Given the description of an element on the screen output the (x, y) to click on. 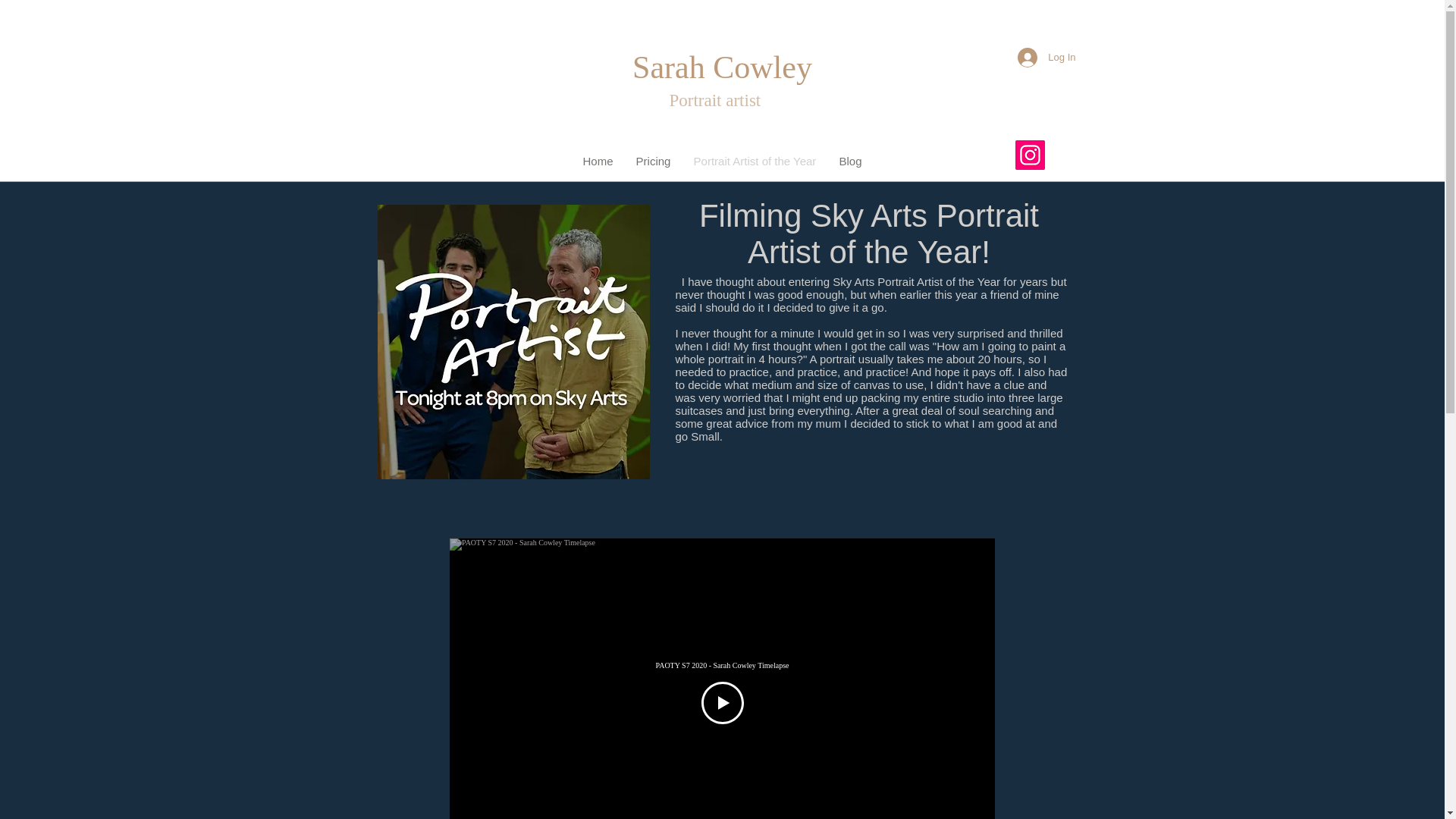
Home (598, 161)
Portrait Artist of the Year (755, 161)
Pricing (653, 161)
Log In (1046, 57)
Sarah Cowley (721, 67)
Blog (850, 161)
PAOTY S7 2020 - Sarah Cowley Timelapse (721, 665)
